Given the description of an element on the screen output the (x, y) to click on. 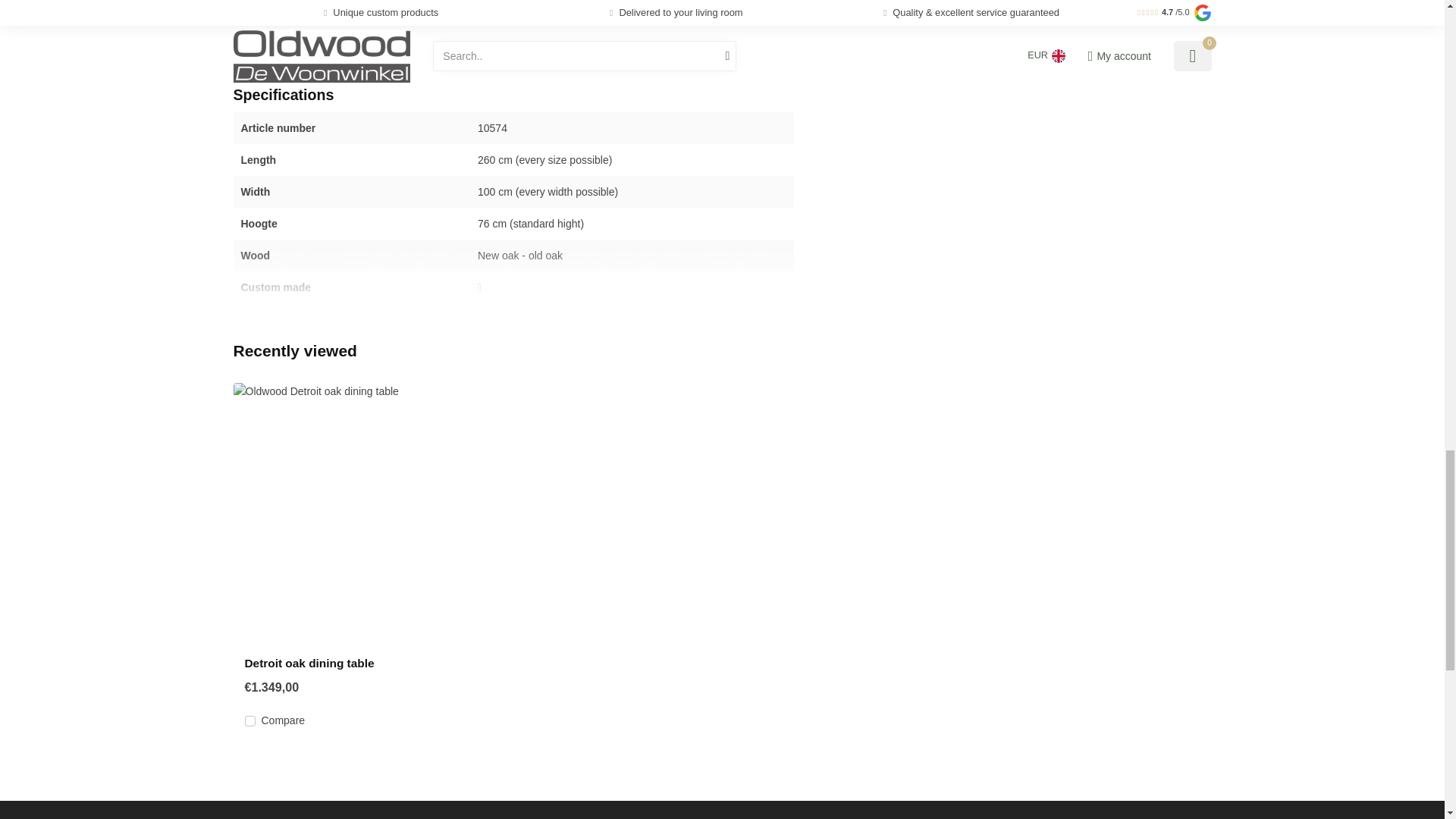
Oldwood Detroit oak dining table (346, 663)
Oldwood Detroit oak dining table (346, 514)
